Given the description of an element on the screen output the (x, y) to click on. 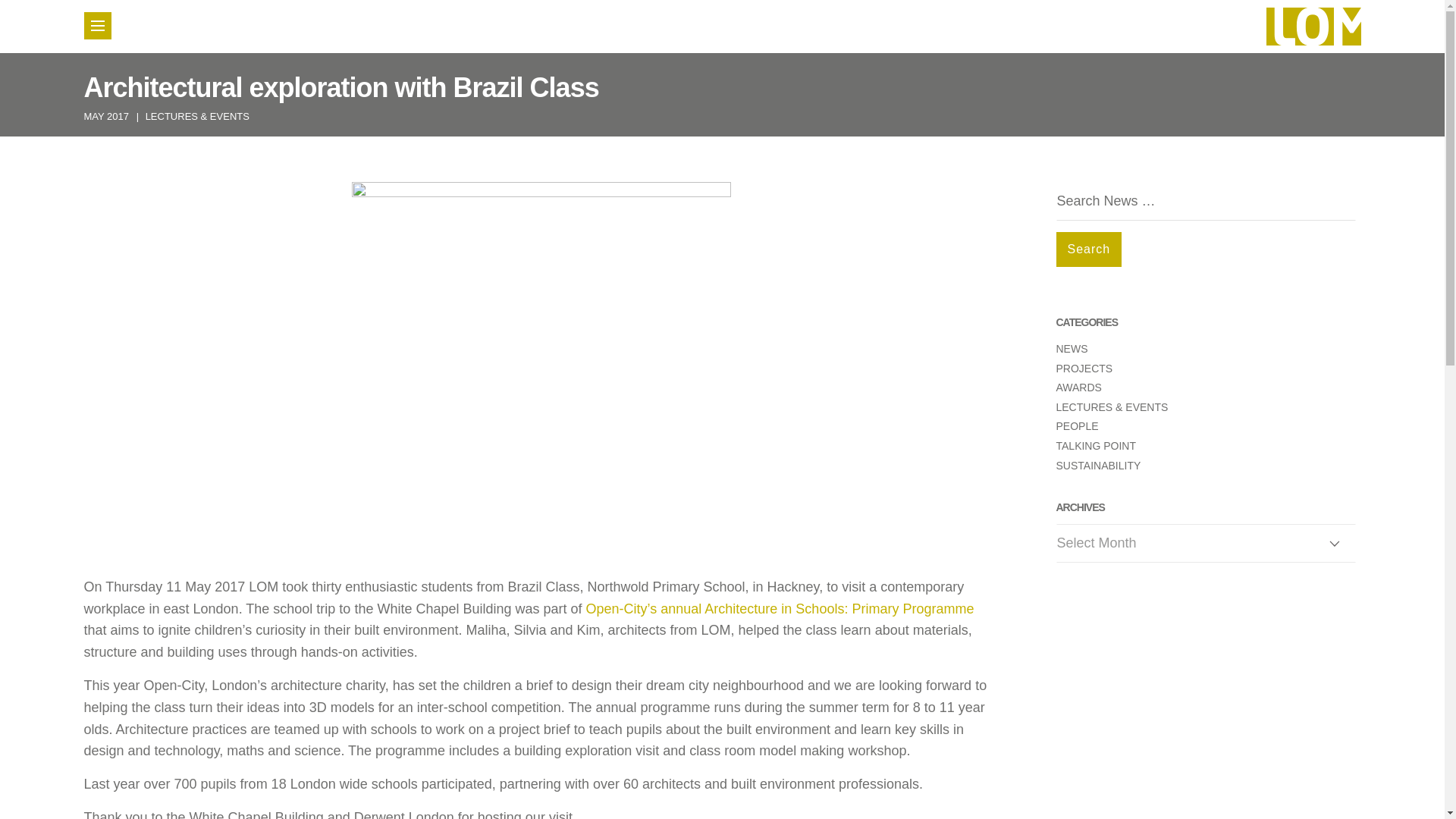
Search (1088, 248)
